Given the description of an element on the screen output the (x, y) to click on. 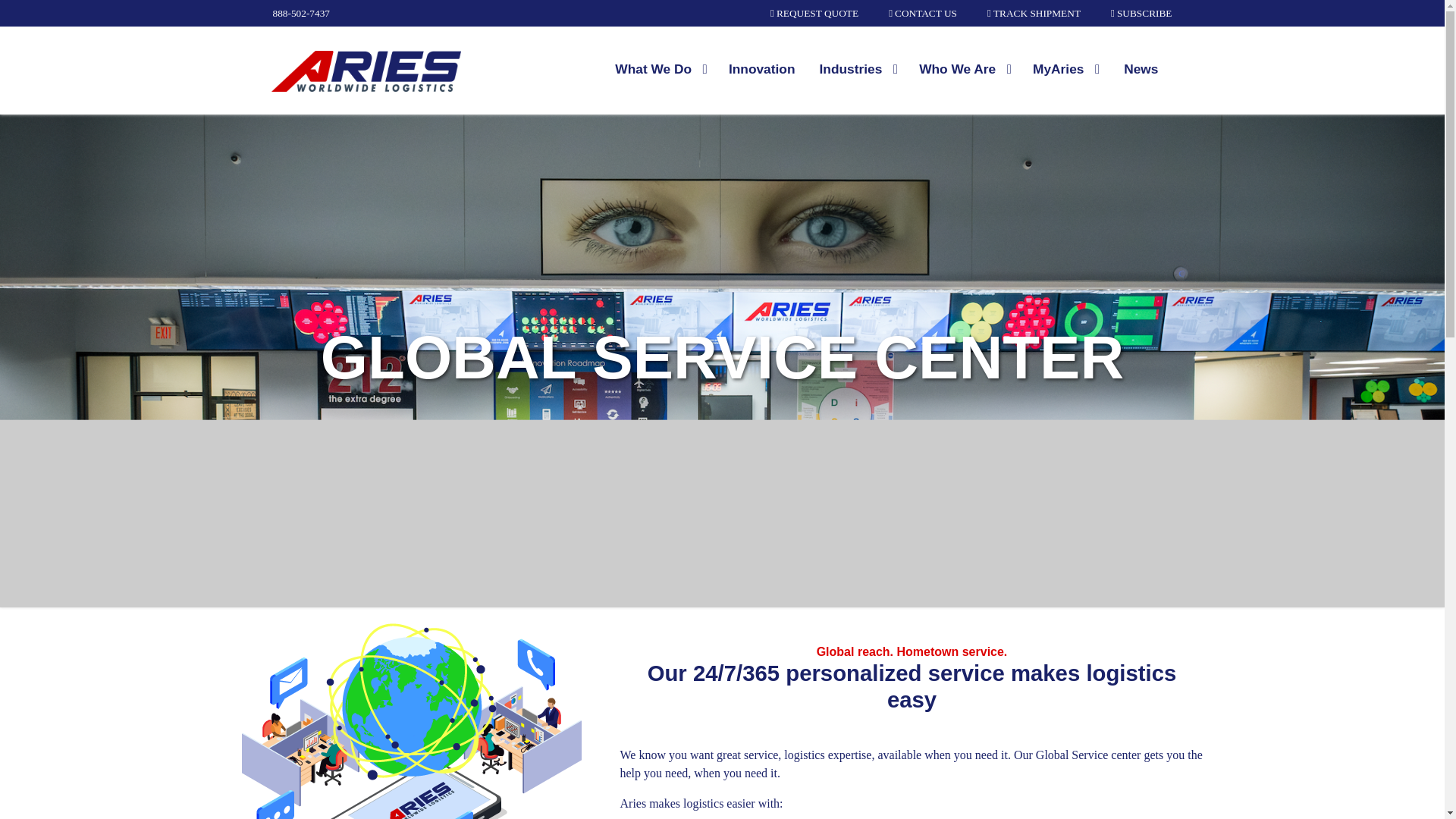
Innovation (761, 68)
Who We Are   (964, 68)
REQUEST QUOTE (814, 13)
What We Do   (660, 68)
Industries   (858, 68)
CONTACT US (922, 13)
888-502-7437 (301, 13)
TRACK SHIPMENT (1033, 13)
MyAries   (1065, 68)
SUBSCRIBE (1141, 13)
